Given the description of an element on the screen output the (x, y) to click on. 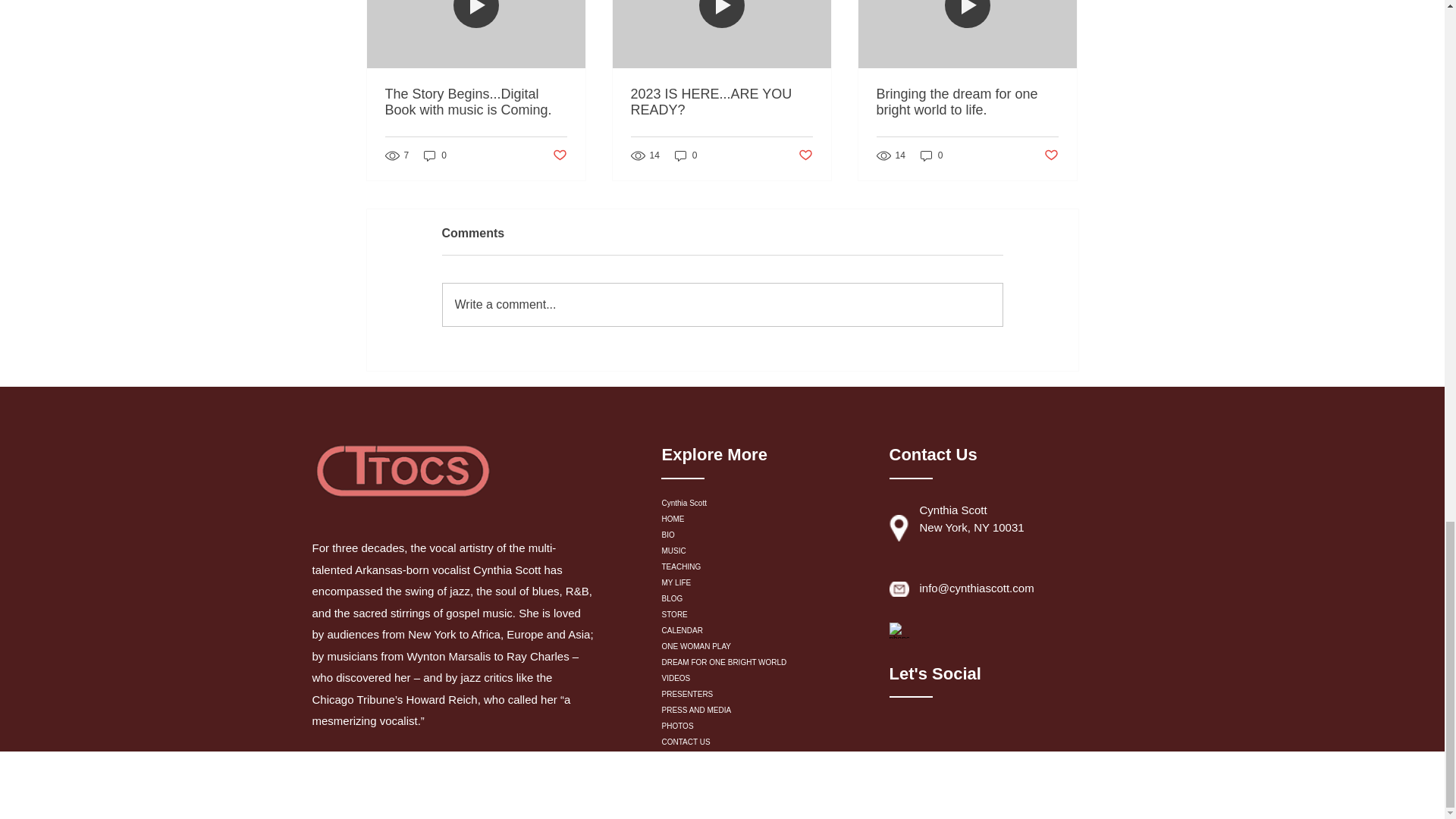
Post not marked as liked (558, 155)
0 (435, 155)
The Story Begins...Digital Book with music is Coming. (476, 101)
2023 IS HERE...ARE YOU READY? (721, 101)
